Given the description of an element on the screen output the (x, y) to click on. 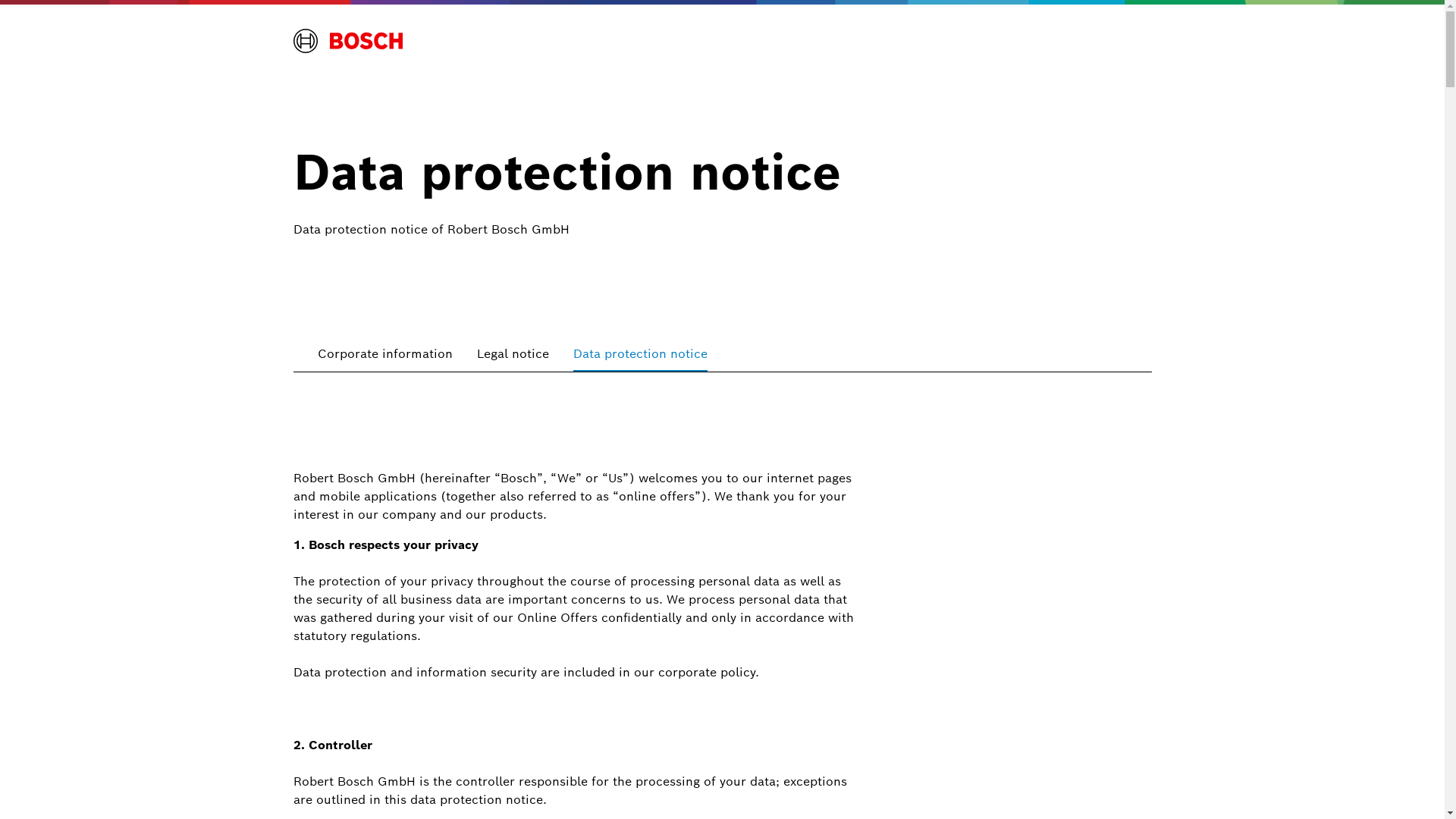
Legal notice Element type: text (512, 353)
Data protection notice Element type: text (640, 353)
Corporate information Element type: text (384, 353)
